Given the description of an element on the screen output the (x, y) to click on. 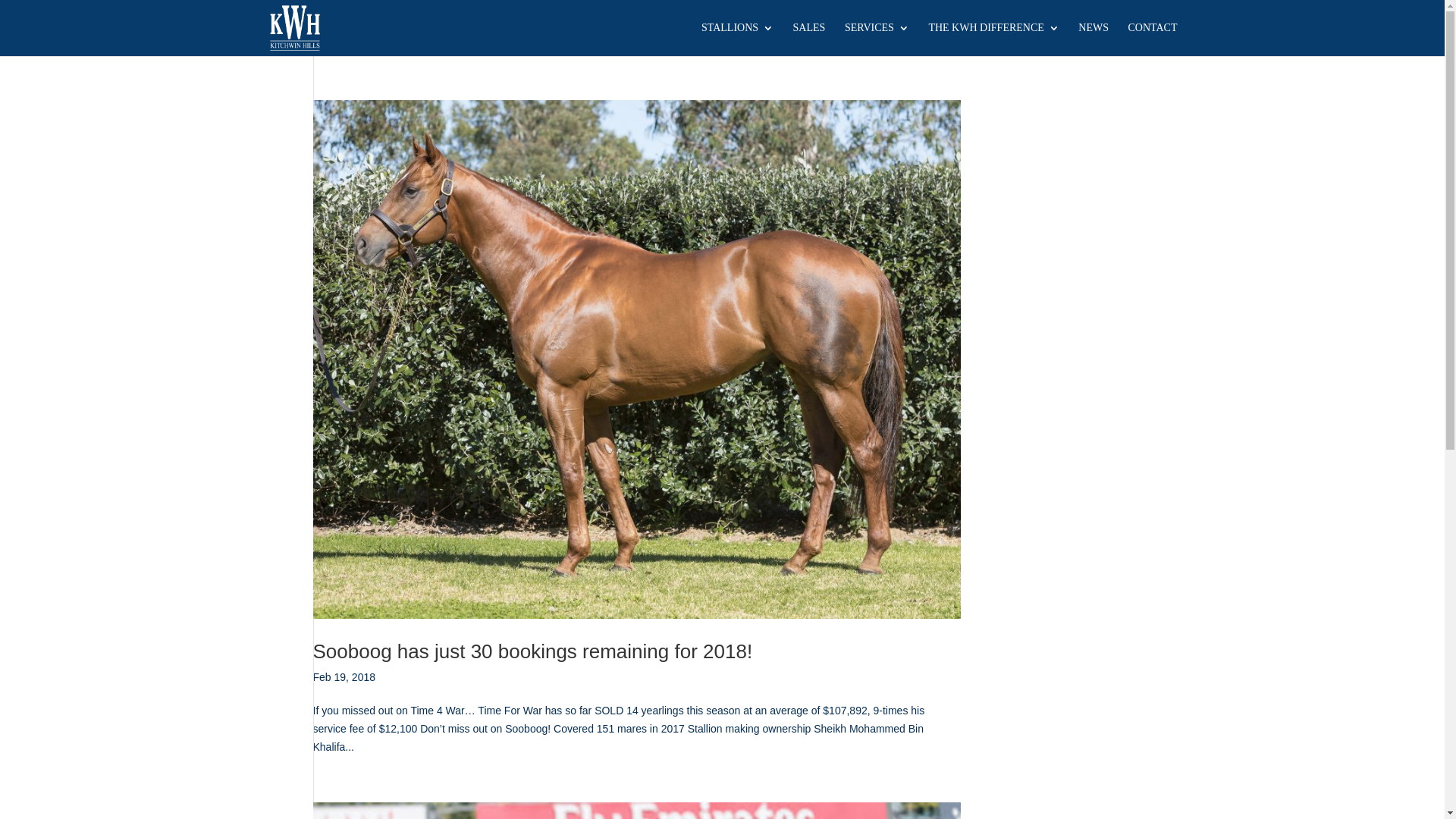
Sooboog has just 30 bookings remaining for 2018! Element type: text (532, 651)
SALES Element type: text (809, 39)
CONTACT Element type: text (1152, 39)
THE KWH DIFFERENCE Element type: text (993, 39)
NEWS Element type: text (1093, 39)
STALLIONS Element type: text (737, 39)
SERVICES Element type: text (876, 39)
